Given the description of an element on the screen output the (x, y) to click on. 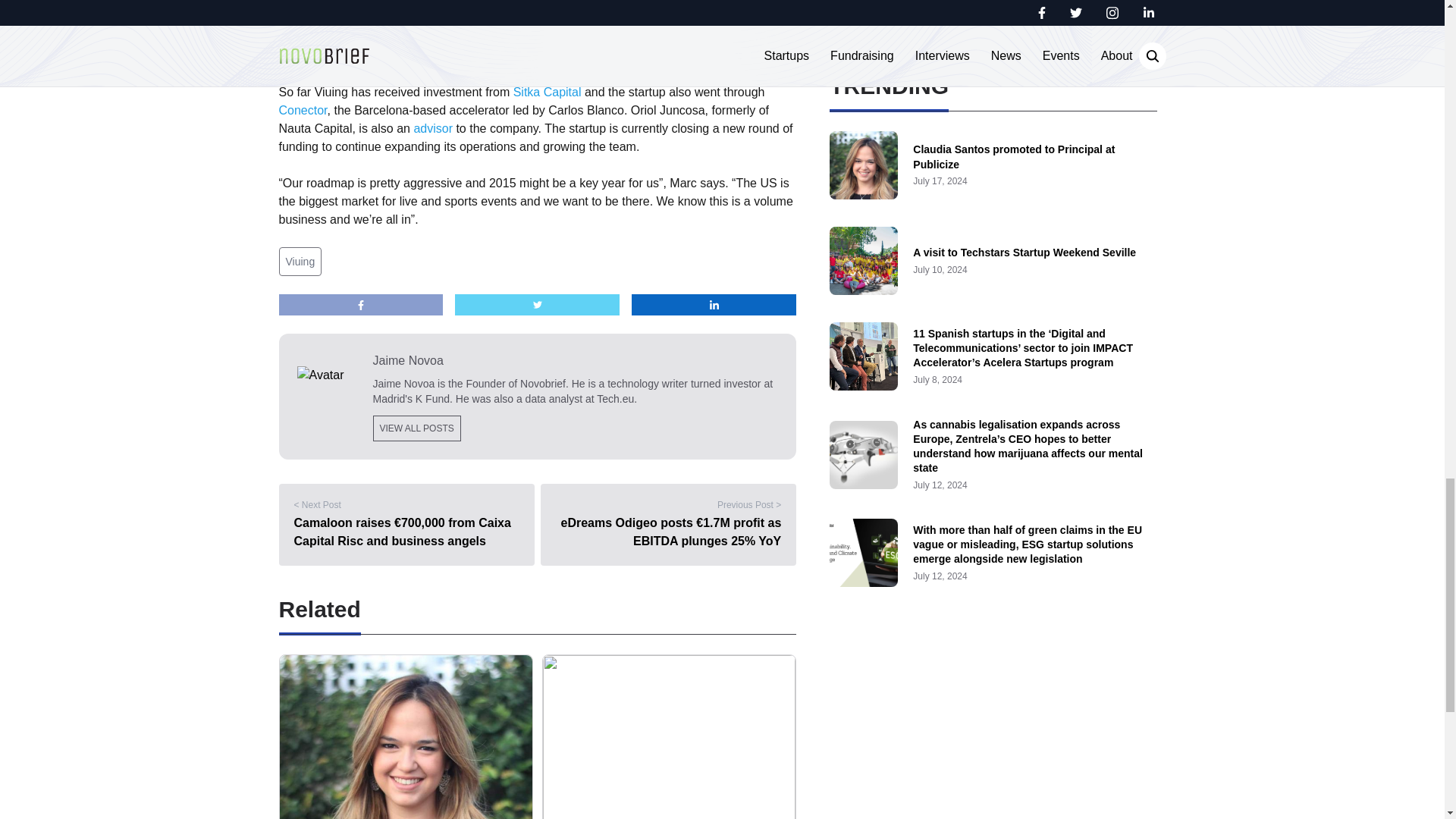
advisor (432, 128)
Sitka Capital (546, 91)
Jaime Novoa (403, 383)
Conector (303, 110)
Viuing (300, 261)
Jaime Novoa (575, 361)
